Given the description of an element on the screen output the (x, y) to click on. 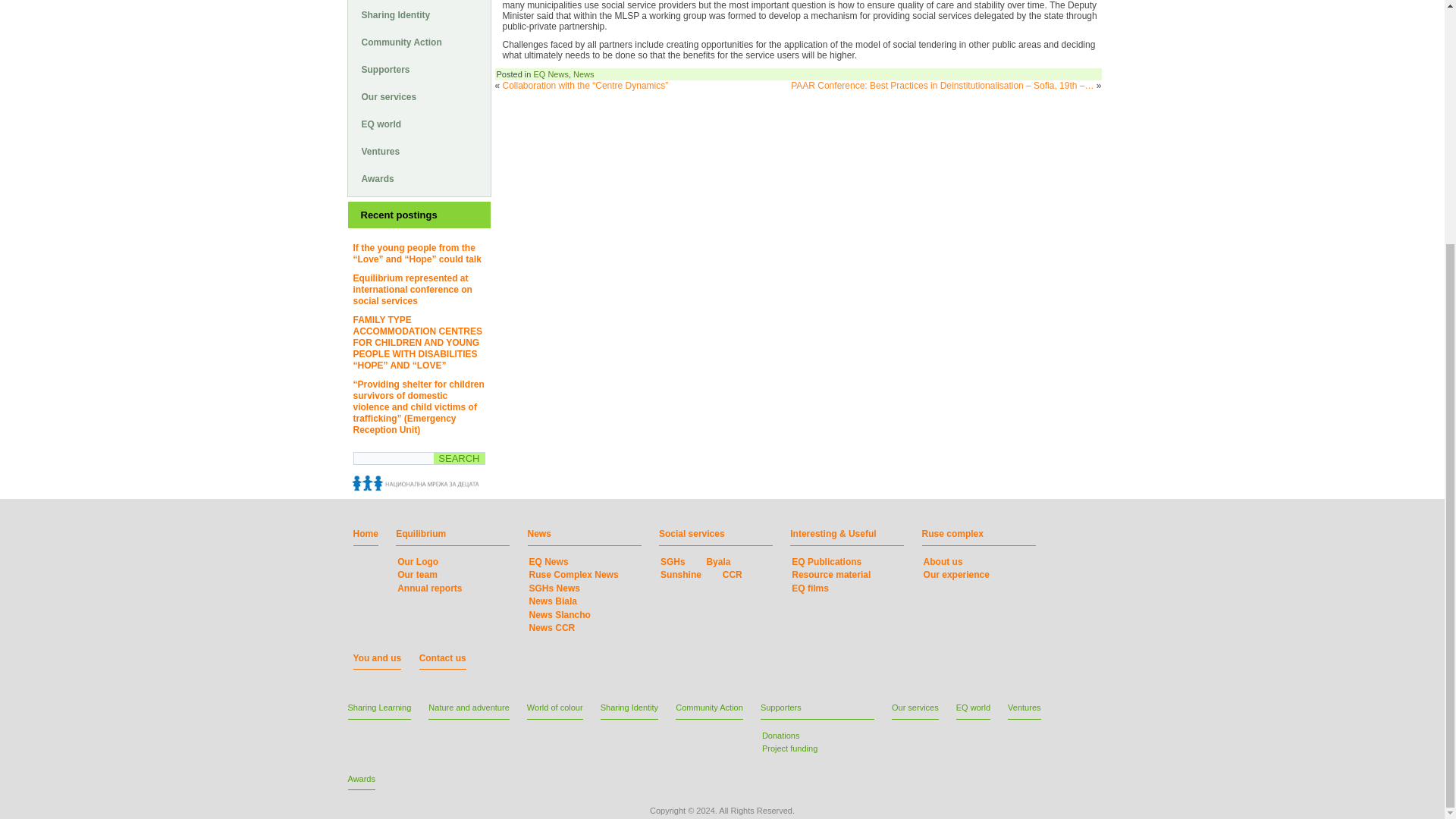
Our services (418, 96)
Sharing Identity (418, 15)
Search (458, 458)
Community Action (418, 42)
EQ world (418, 124)
Supporters (418, 69)
Search (458, 458)
